Given the description of an element on the screen output the (x, y) to click on. 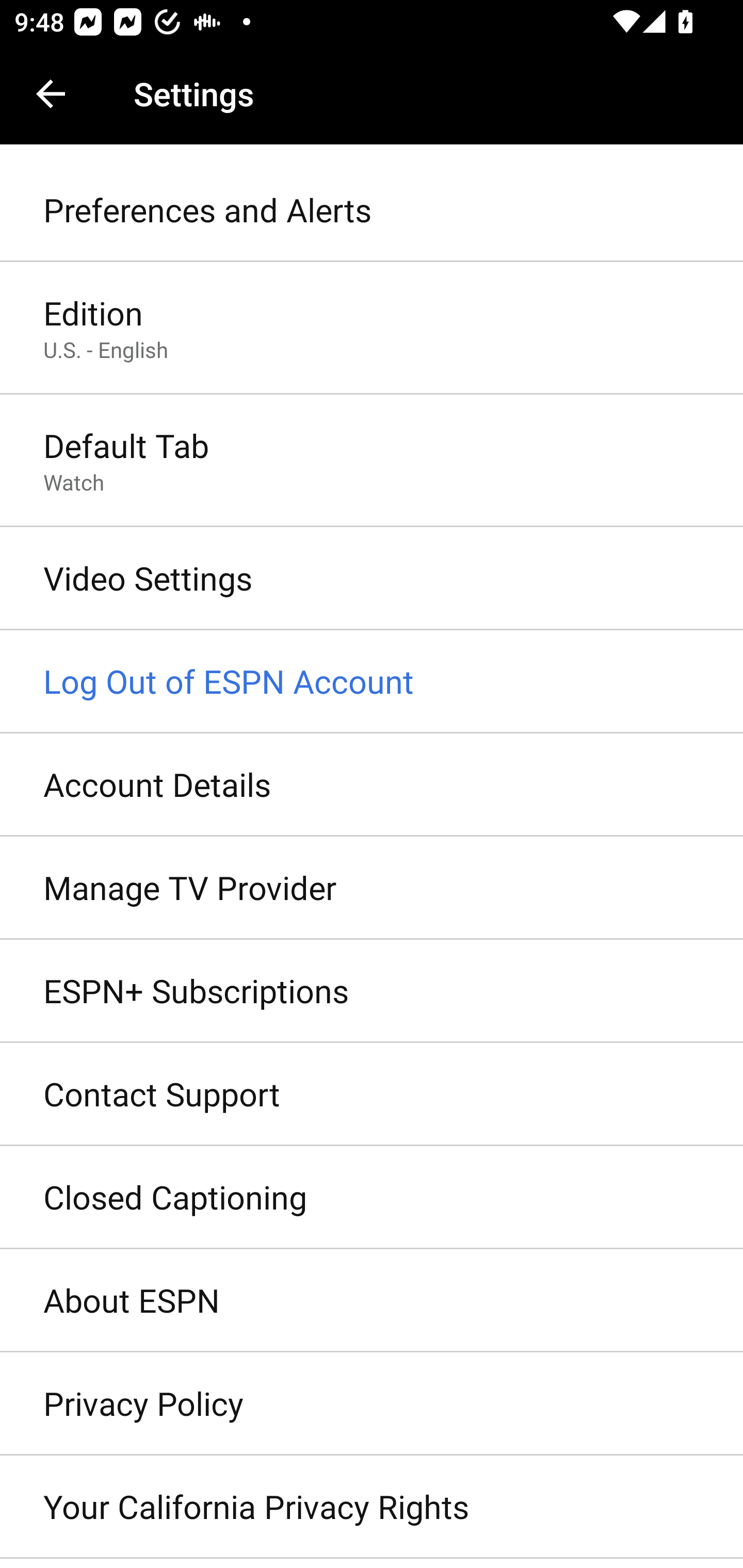
Navigate up (50, 93)
Preferences and Alerts (371, 209)
Edition U.S. - English (371, 328)
Default Tab Watch (371, 461)
Video Settings (371, 578)
Log Out of ESPN Account (371, 681)
Account Details (371, 785)
Manage TV Provider (371, 888)
ESPN+ Subscriptions (371, 990)
Contact Support (371, 1094)
Closed Captioning (371, 1197)
About ESPN (371, 1301)
Privacy Policy (371, 1403)
Your California Privacy Rights (371, 1506)
